Given the description of an element on the screen output the (x, y) to click on. 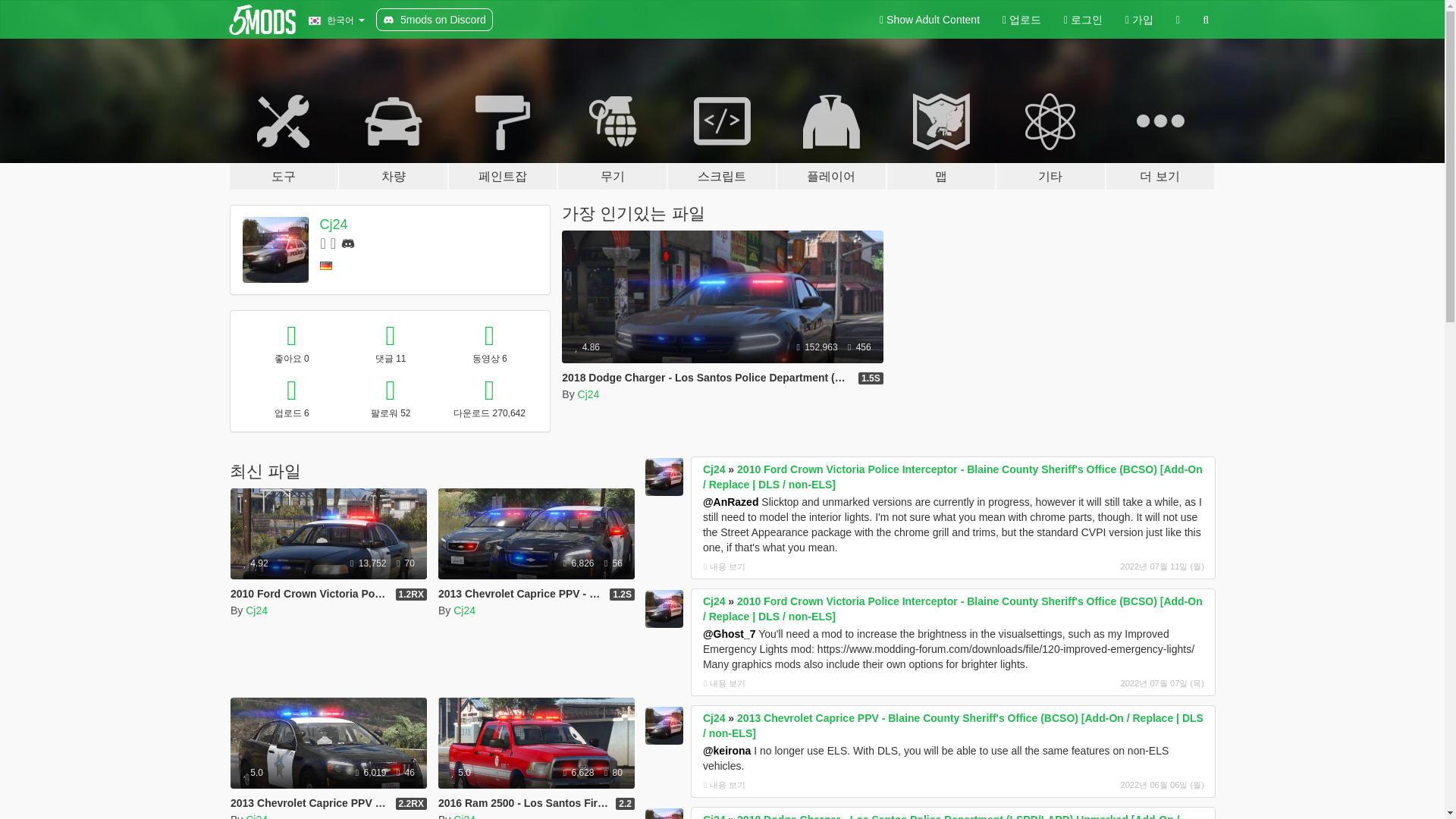
4.86 star rating (586, 347)
Light mode (929, 19)
Show Adult Content (929, 19)
Discord Server (347, 243)
5mods on Discord (434, 19)
4.92 star rating (255, 562)
Cj24 (588, 394)
1.5S (871, 378)
